Given the description of an element on the screen output the (x, y) to click on. 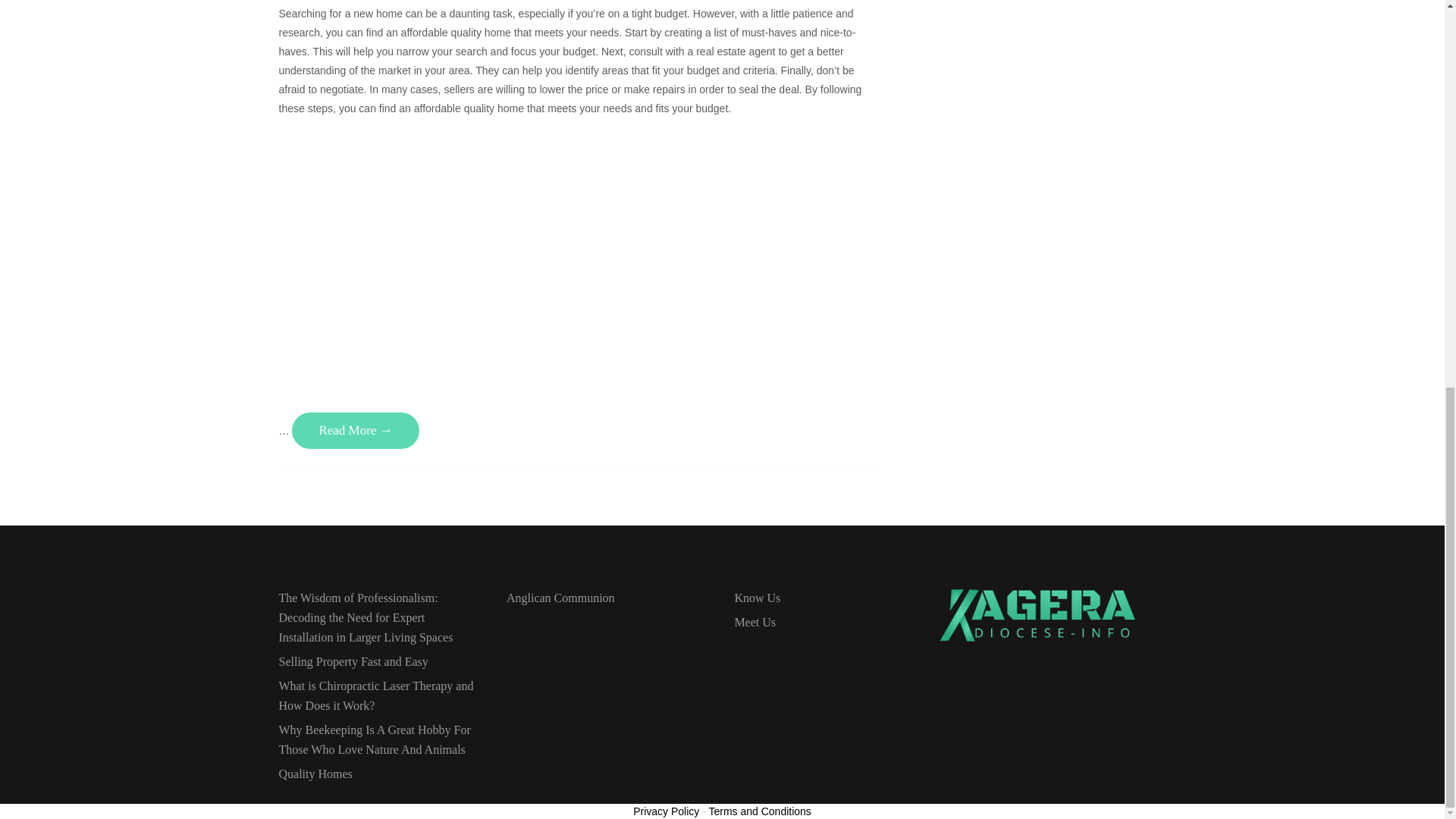
What is Chiropractic Laser Therapy and How Does it Work? (379, 696)
Selling Property Fast and Easy (379, 662)
Privacy Policy (665, 811)
Quality Homes (379, 774)
YouTube video player (491, 237)
Know Us (833, 598)
Meet Us (833, 622)
Anglican Communion (606, 598)
